Given the description of an element on the screen output the (x, y) to click on. 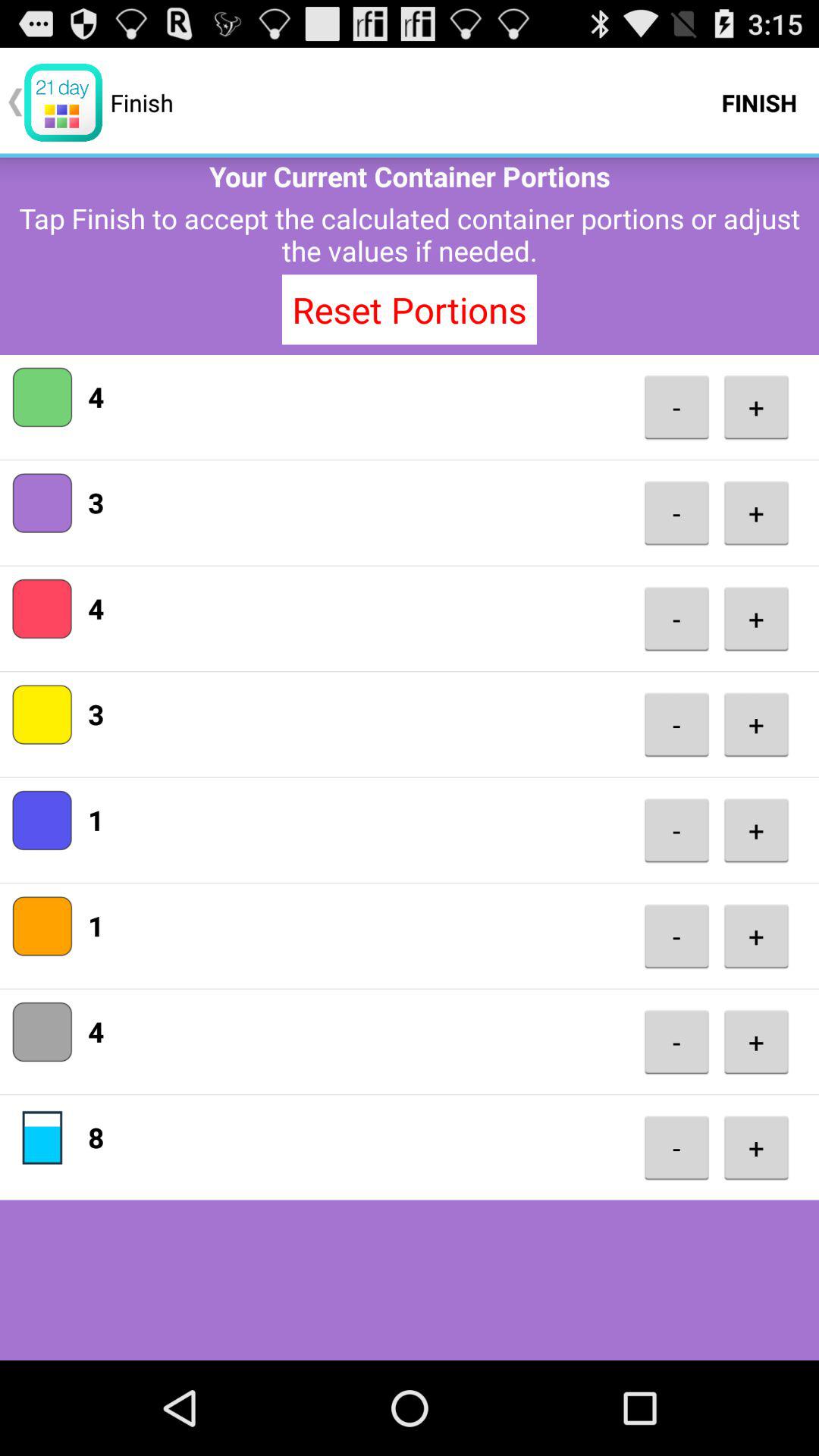
launch item to the right of 8 (676, 1147)
